Given the description of an element on the screen output the (x, y) to click on. 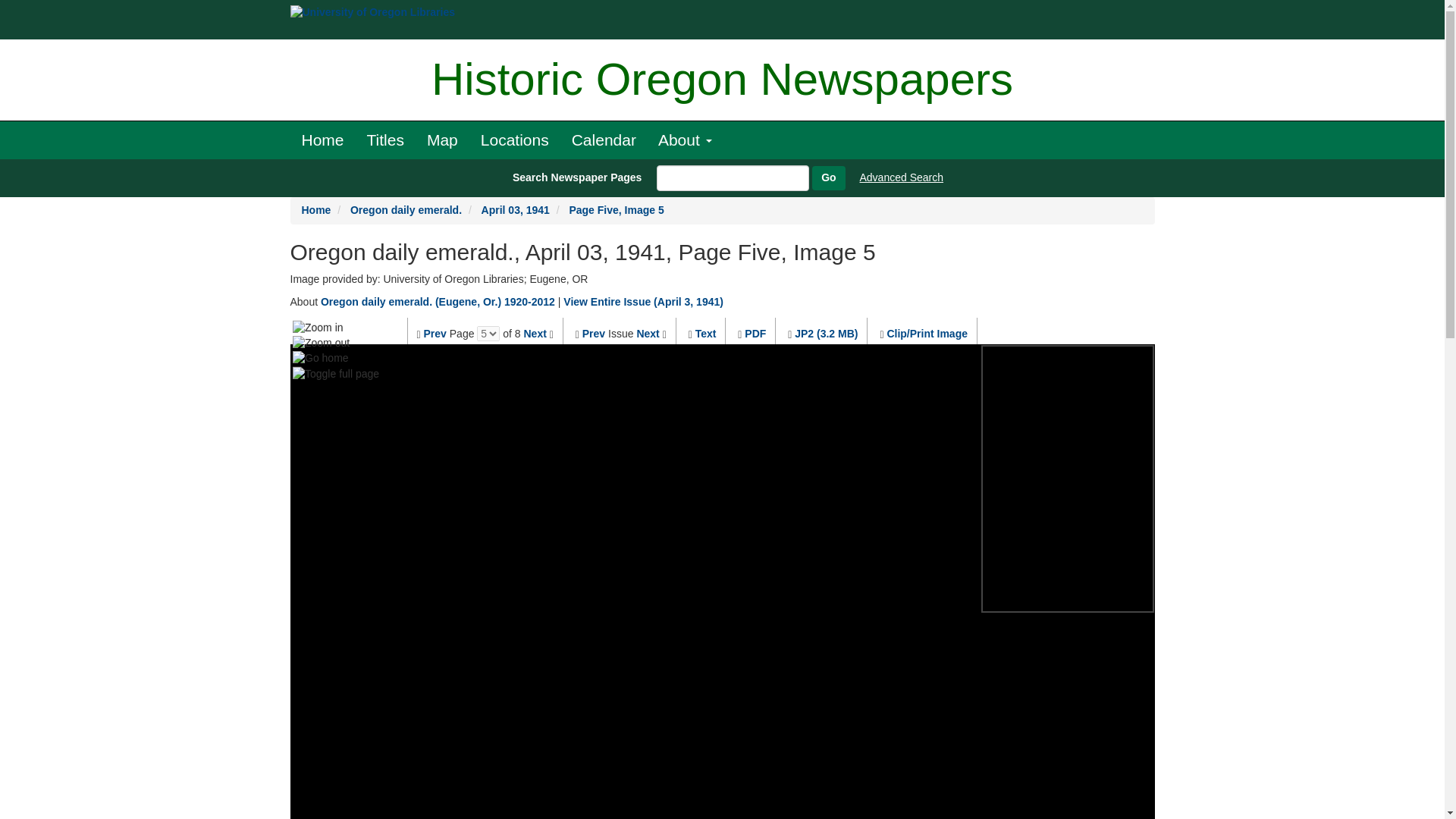
Prev (434, 333)
PDF (754, 333)
Go (828, 178)
Map (441, 139)
Advanced Search (901, 177)
Titles (384, 139)
April 03, 1941 (515, 209)
Locations (514, 139)
Home (316, 209)
Oregon daily emerald. (405, 209)
Next (647, 333)
Toggle full page (335, 373)
About (684, 140)
Next (534, 333)
Prev (593, 333)
